Given the description of an element on the screen output the (x, y) to click on. 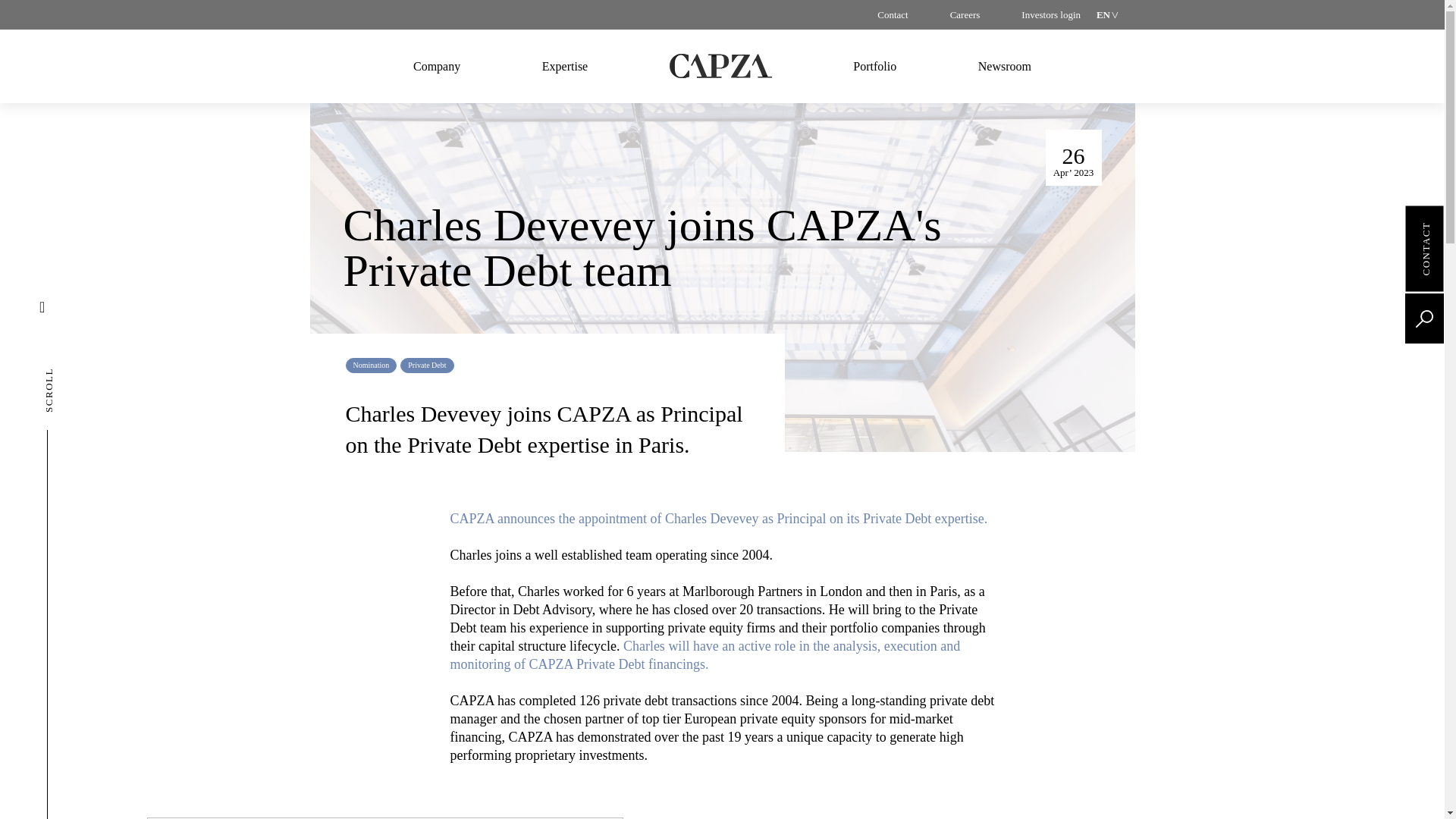
EN (1104, 14)
Newsroom (1004, 62)
Logo Capza (720, 62)
Expertise (564, 62)
Portfolio (874, 62)
Investors login (1051, 14)
Company (436, 62)
Contact (892, 14)
Careers (964, 14)
